Given the description of an element on the screen output the (x, y) to click on. 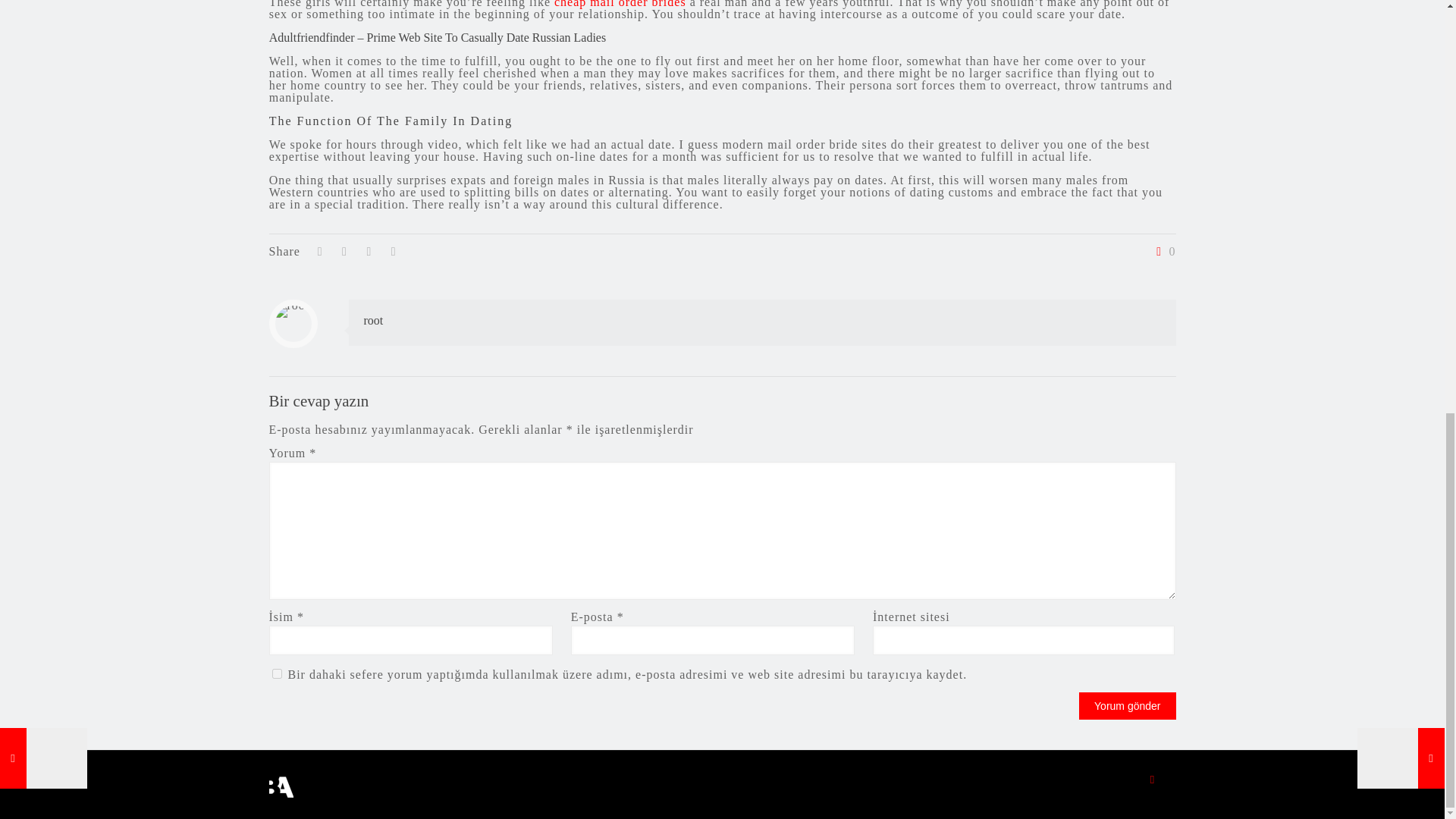
Facebook (1152, 779)
cheap mail order brides (619, 4)
yes (275, 673)
0 (1163, 251)
root (374, 319)
